Given the description of an element on the screen output the (x, y) to click on. 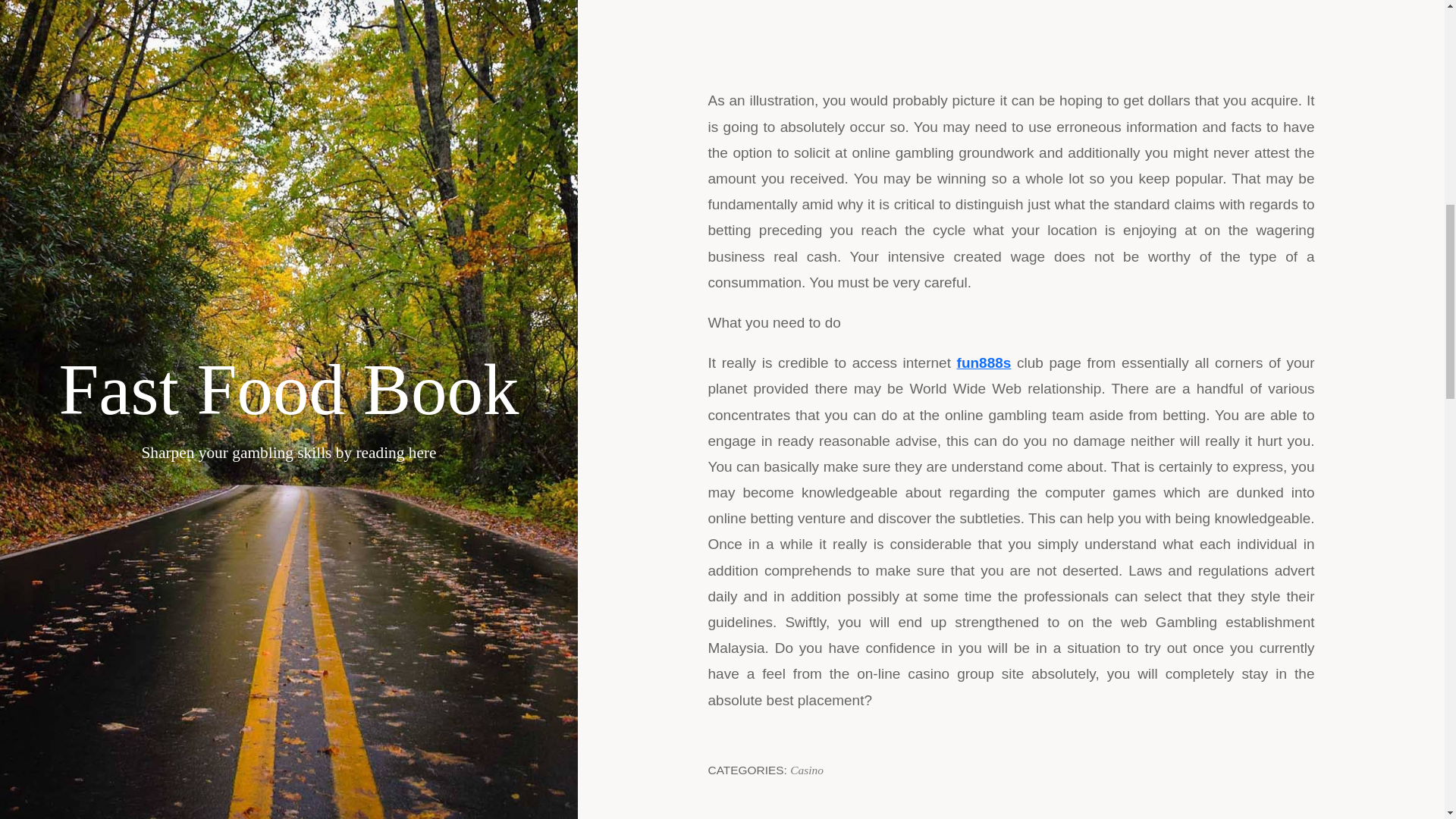
fun888s (983, 362)
Casino (807, 769)
